Given the description of an element on the screen output the (x, y) to click on. 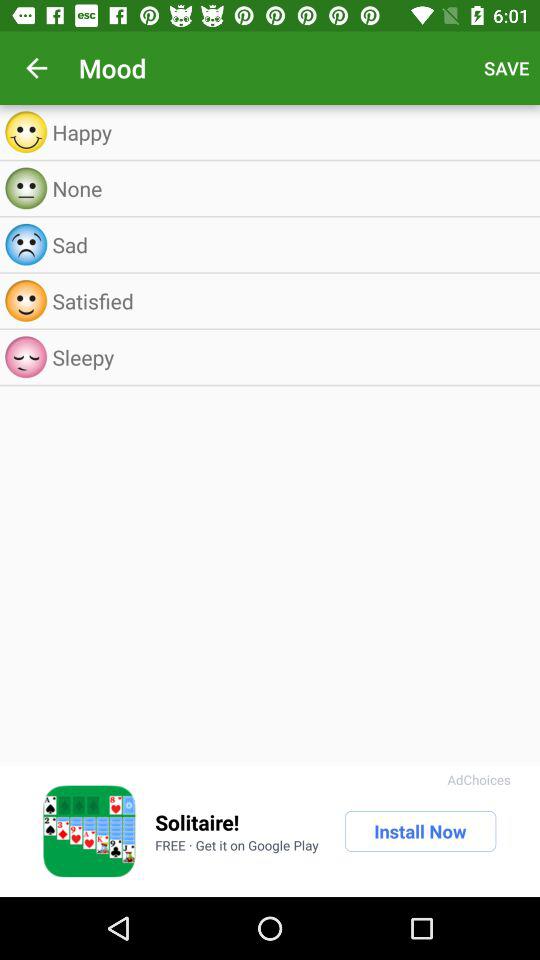
press the item below the  none (290, 244)
